Given the description of an element on the screen output the (x, y) to click on. 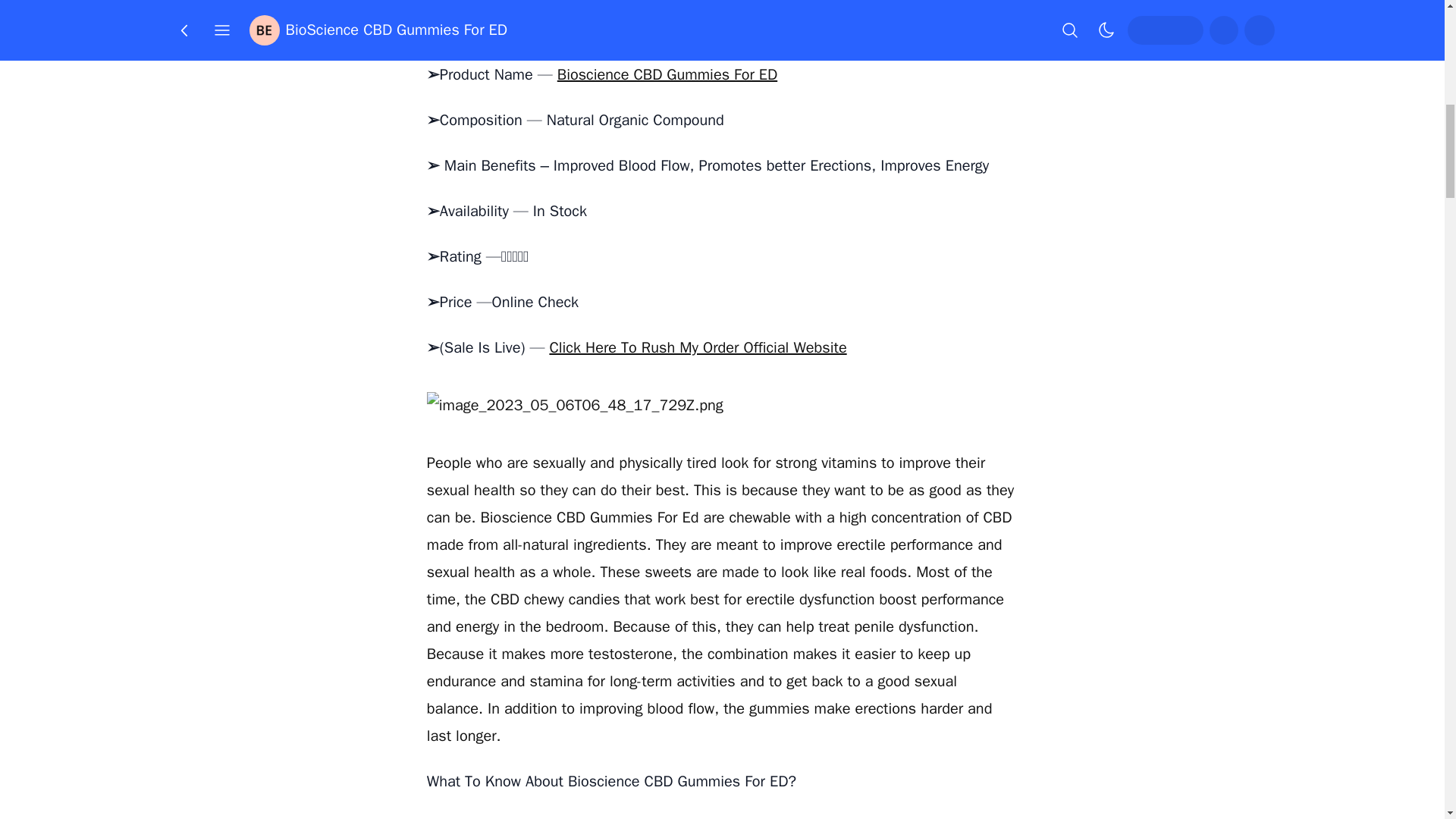
Click Here To Rush My Order Official Website (696, 347)
Bioscience CBD Gummies For ED (667, 74)
